Given the description of an element on the screen output the (x, y) to click on. 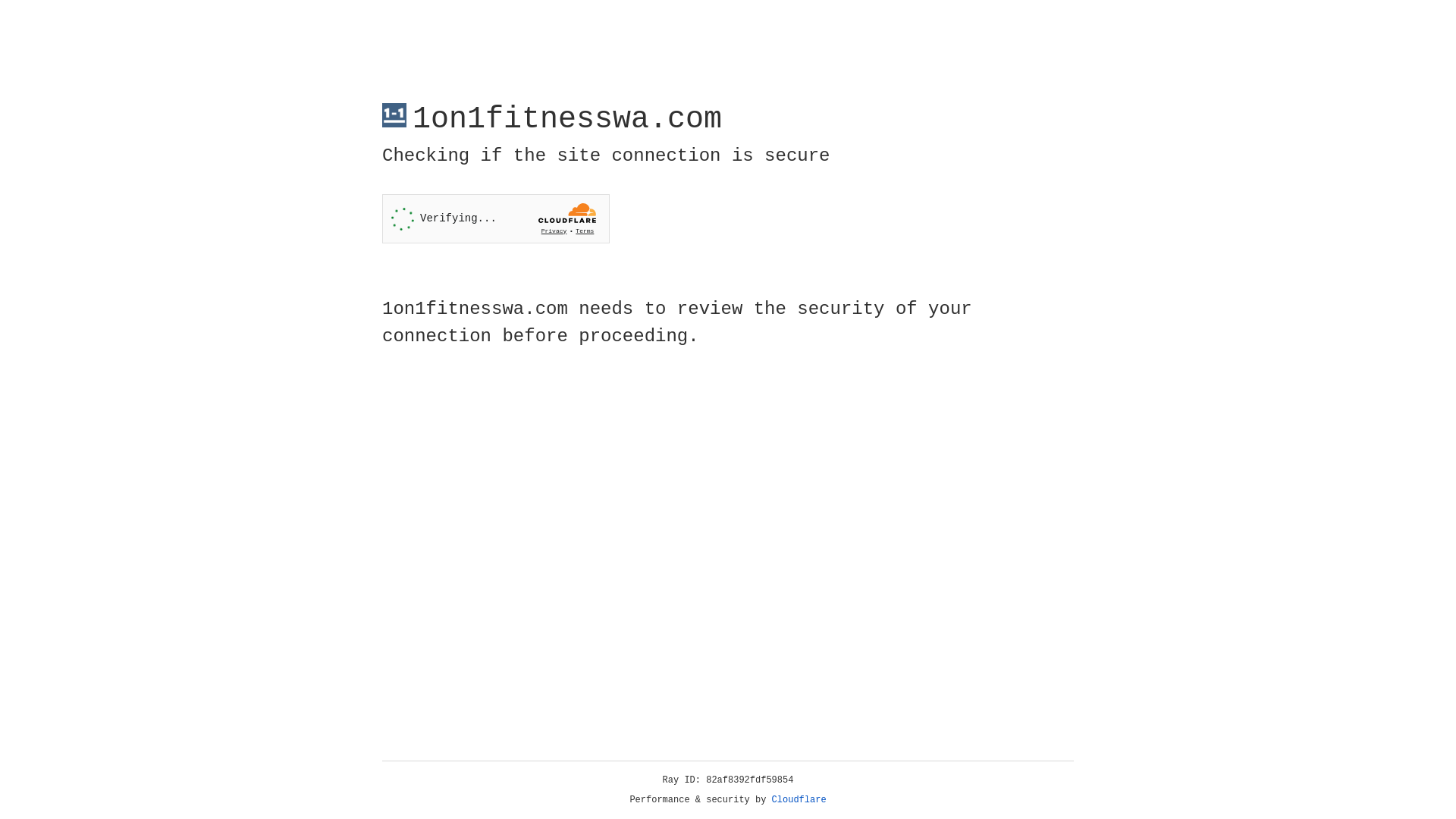
Cloudflare Element type: text (798, 799)
Widget containing a Cloudflare security challenge Element type: hover (495, 218)
